Given the description of an element on the screen output the (x, y) to click on. 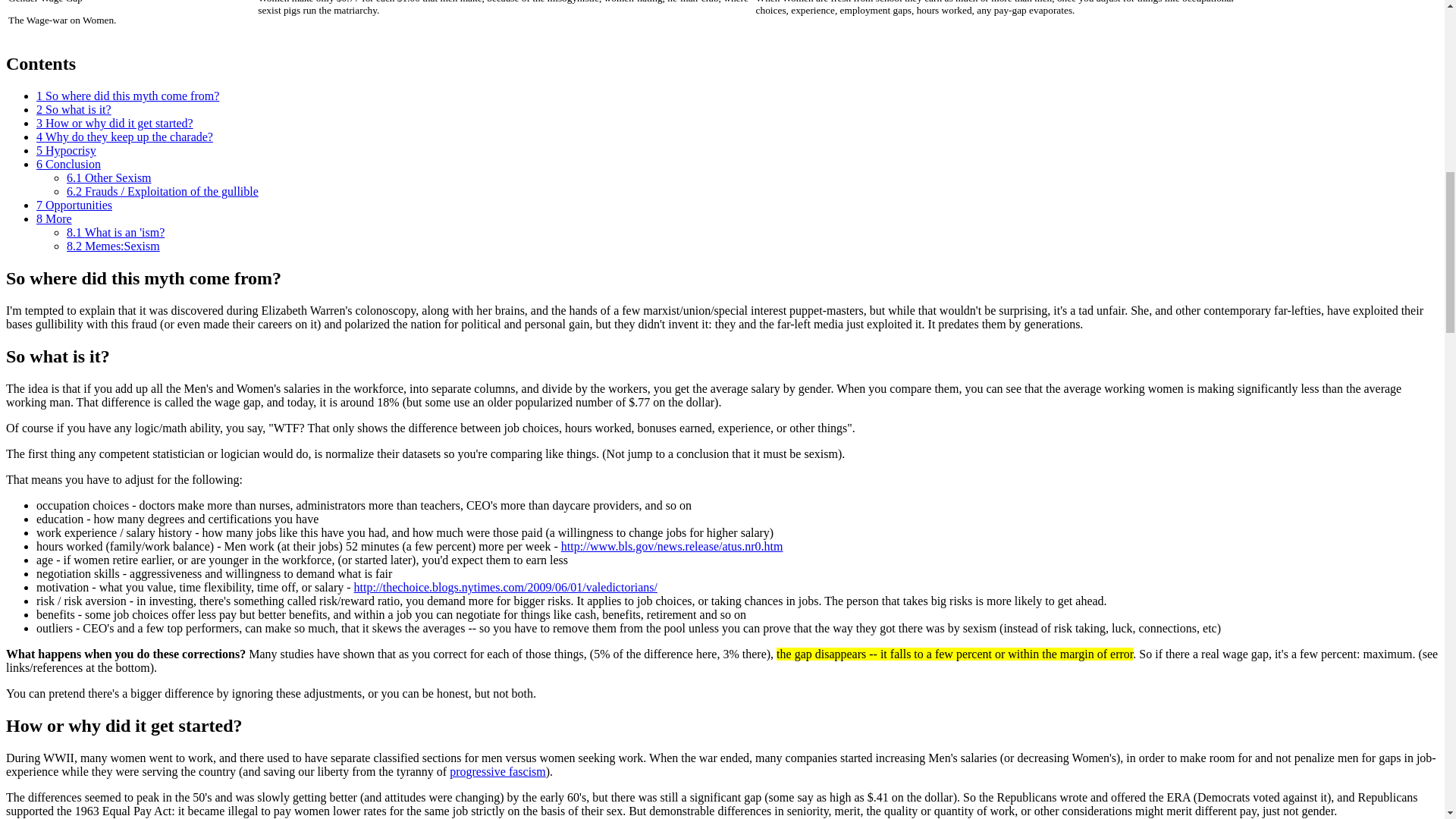
What is fascism? (497, 771)
